Given the description of an element on the screen output the (x, y) to click on. 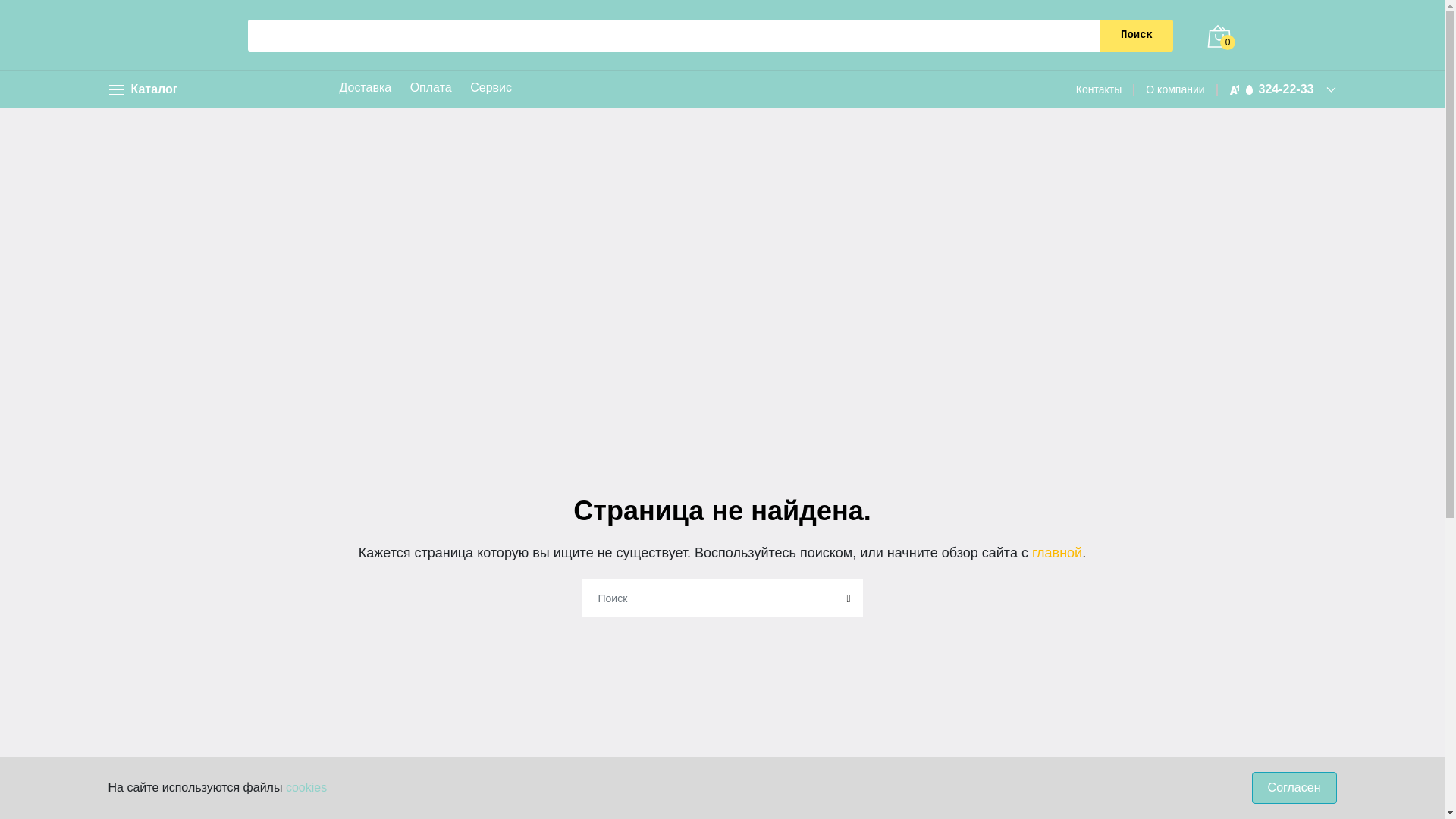
cookies Element type: text (305, 787)
0 Element type: text (1219, 35)
